Given the description of an element on the screen output the (x, y) to click on. 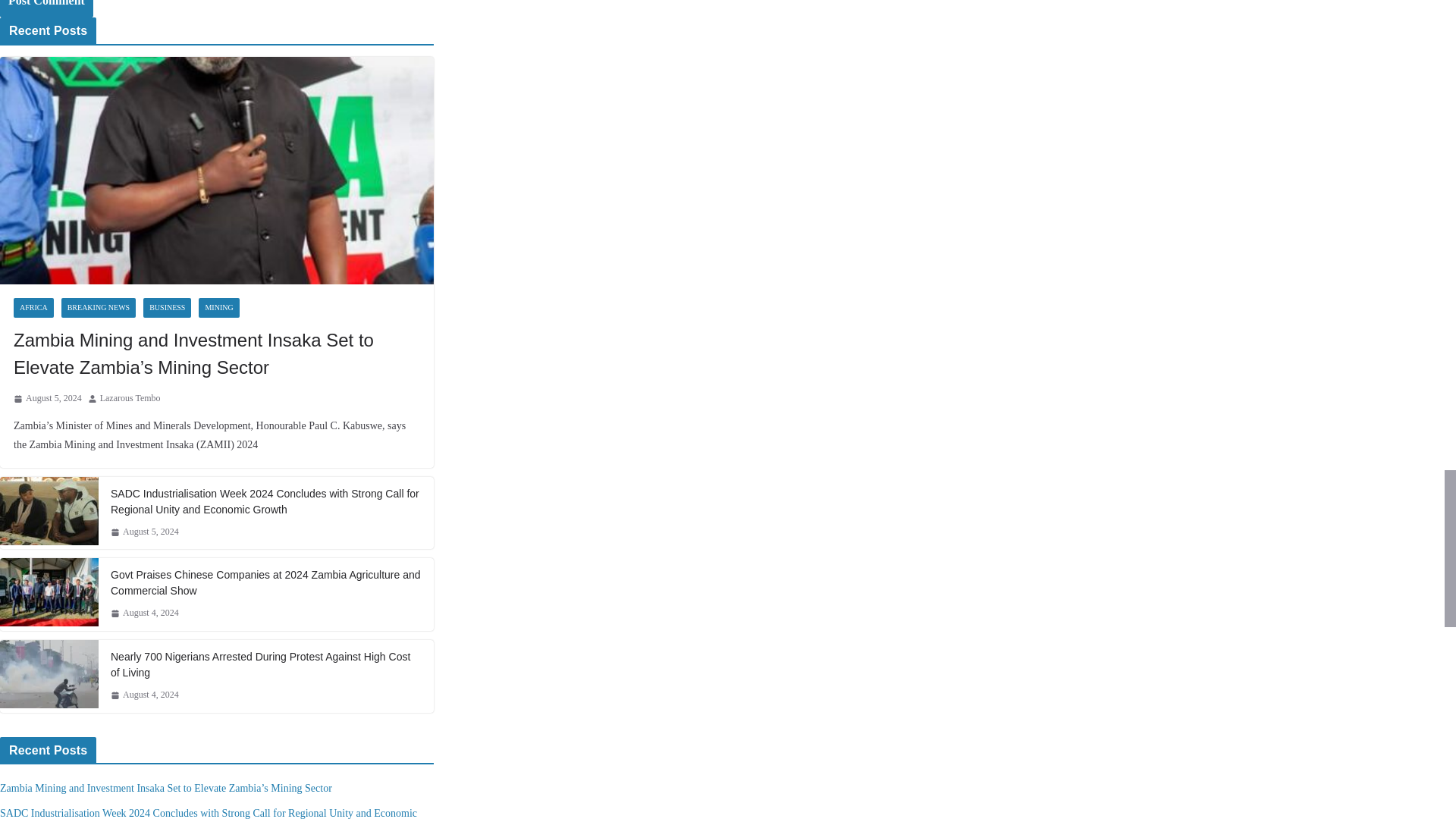
Post Comment (46, 8)
